Given the description of an element on the screen output the (x, y) to click on. 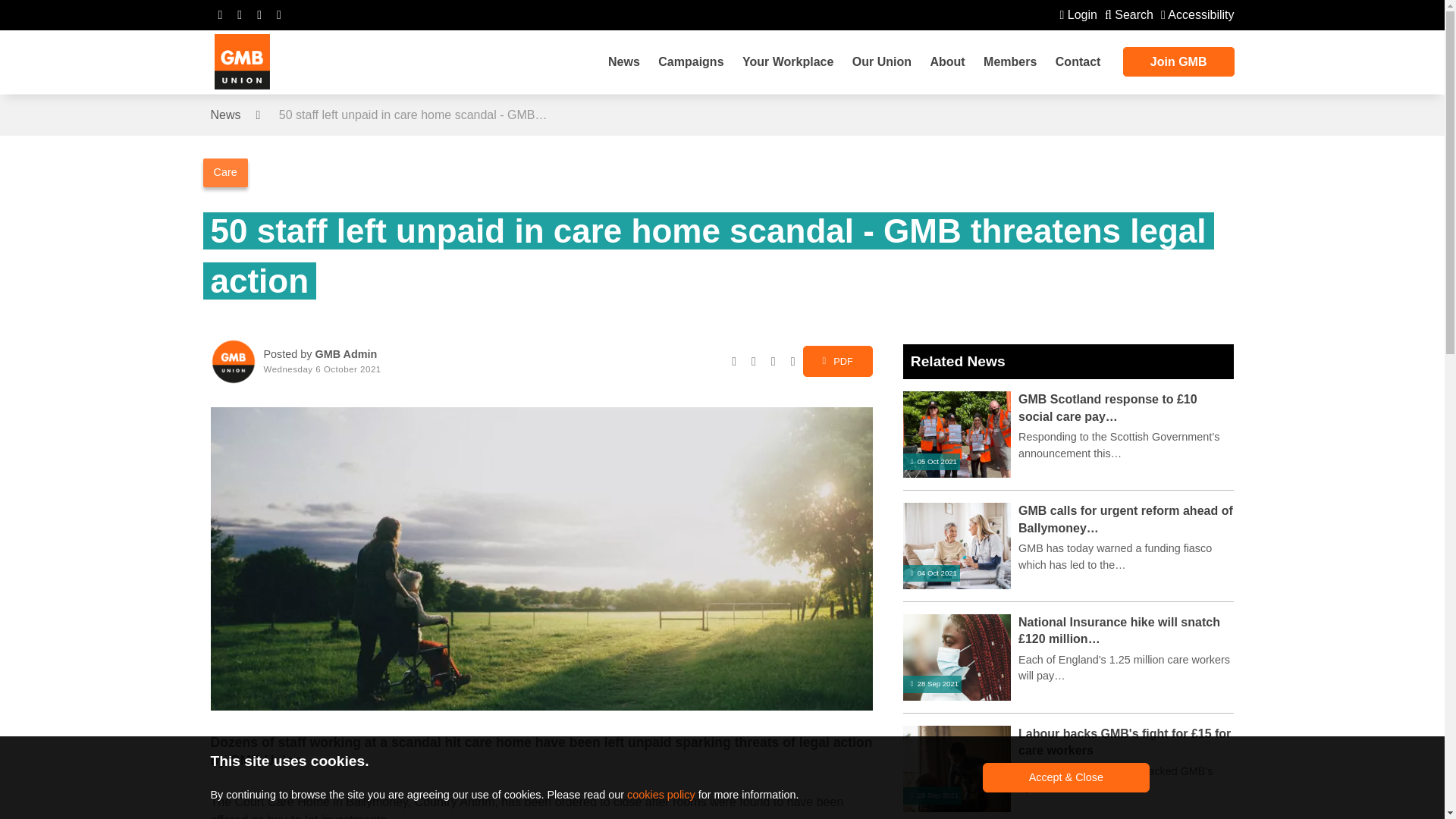
Search (1129, 14)
Campaigns (690, 62)
our cookies policy (661, 794)
Accessibility (1197, 14)
Login (1077, 14)
Your Workplace (788, 62)
